Given the description of an element on the screen output the (x, y) to click on. 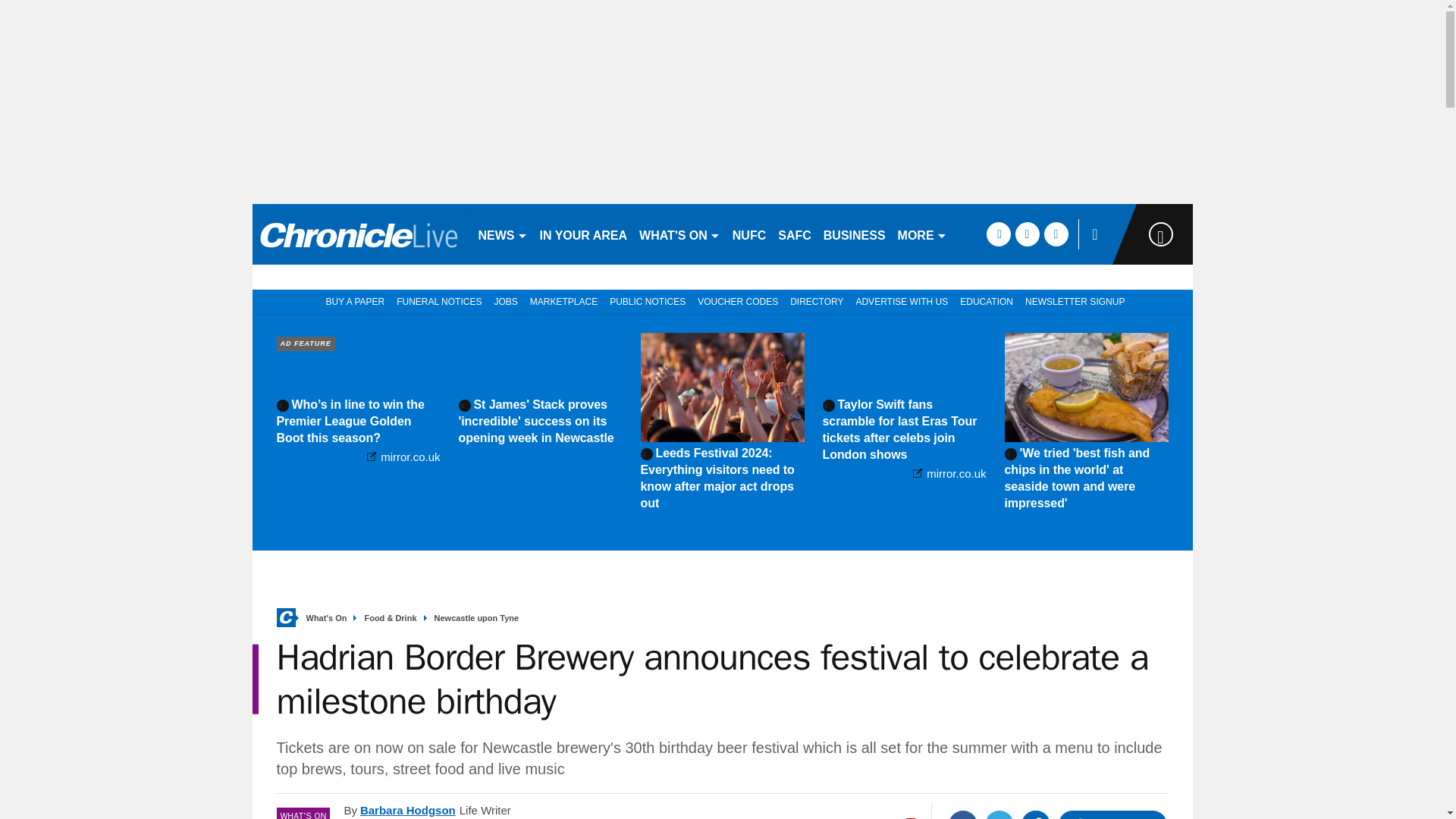
facebook (997, 233)
nechronicle (357, 233)
NEWS (501, 233)
Facebook (962, 814)
Comments (1112, 814)
instagram (1055, 233)
MORE (922, 233)
Twitter (999, 814)
BUSINESS (853, 233)
WHAT'S ON (679, 233)
